Given the description of an element on the screen output the (x, y) to click on. 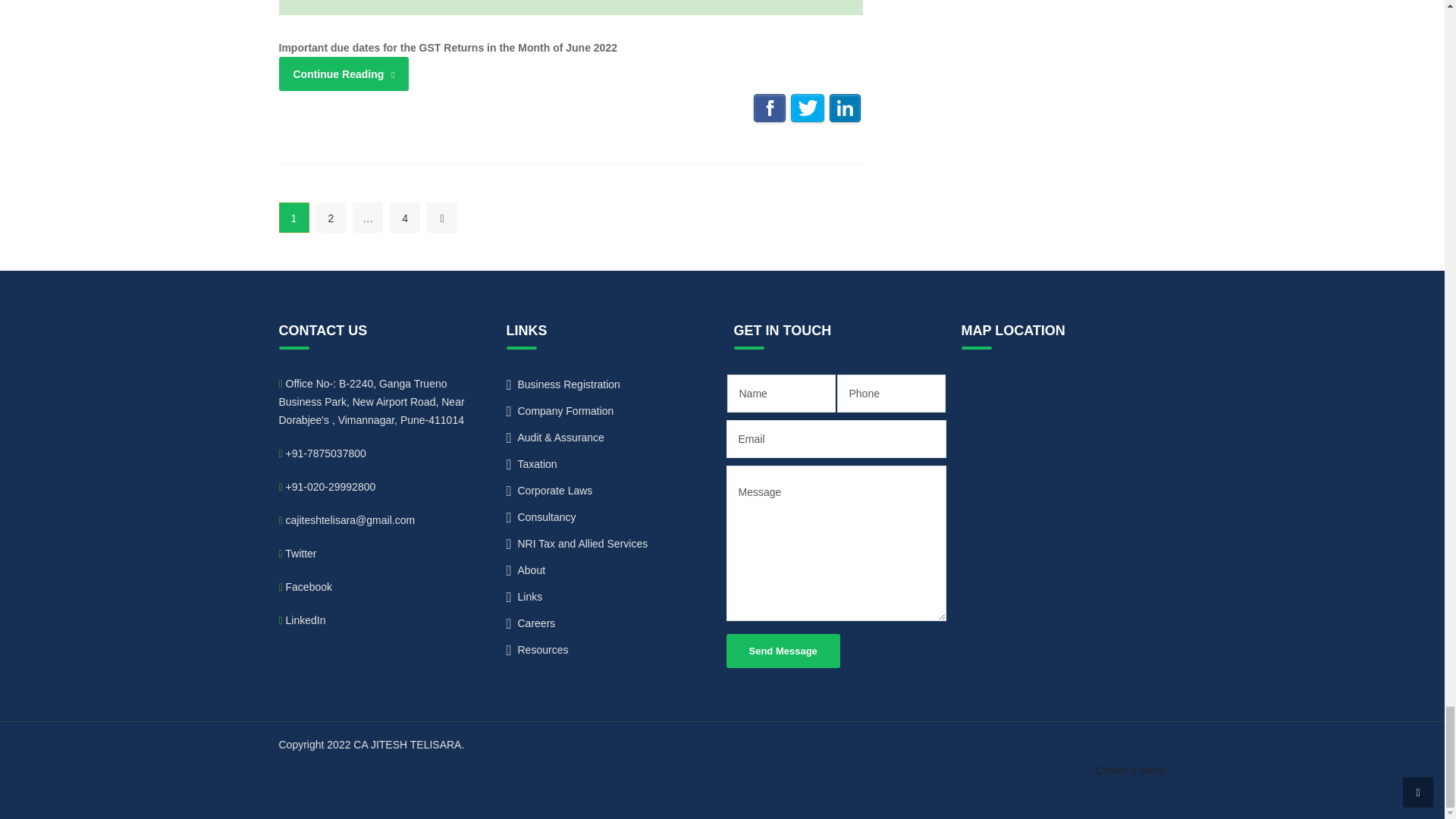
Send Message (783, 650)
